Given the description of an element on the screen output the (x, y) to click on. 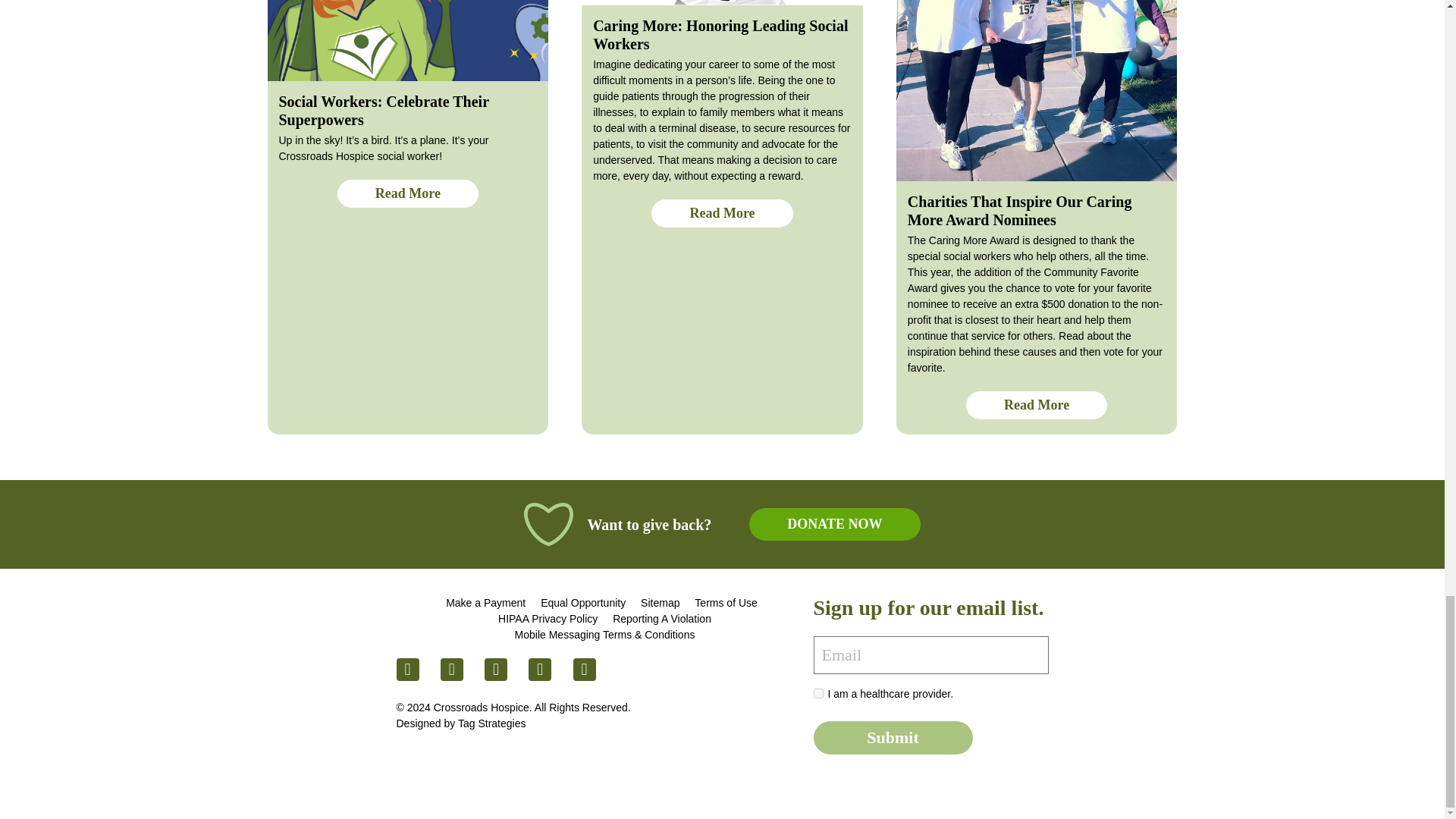
Submit (892, 737)
Post image (721, 2)
Post image (407, 40)
Post image (1036, 90)
true (817, 693)
